Given the description of an element on the screen output the (x, y) to click on. 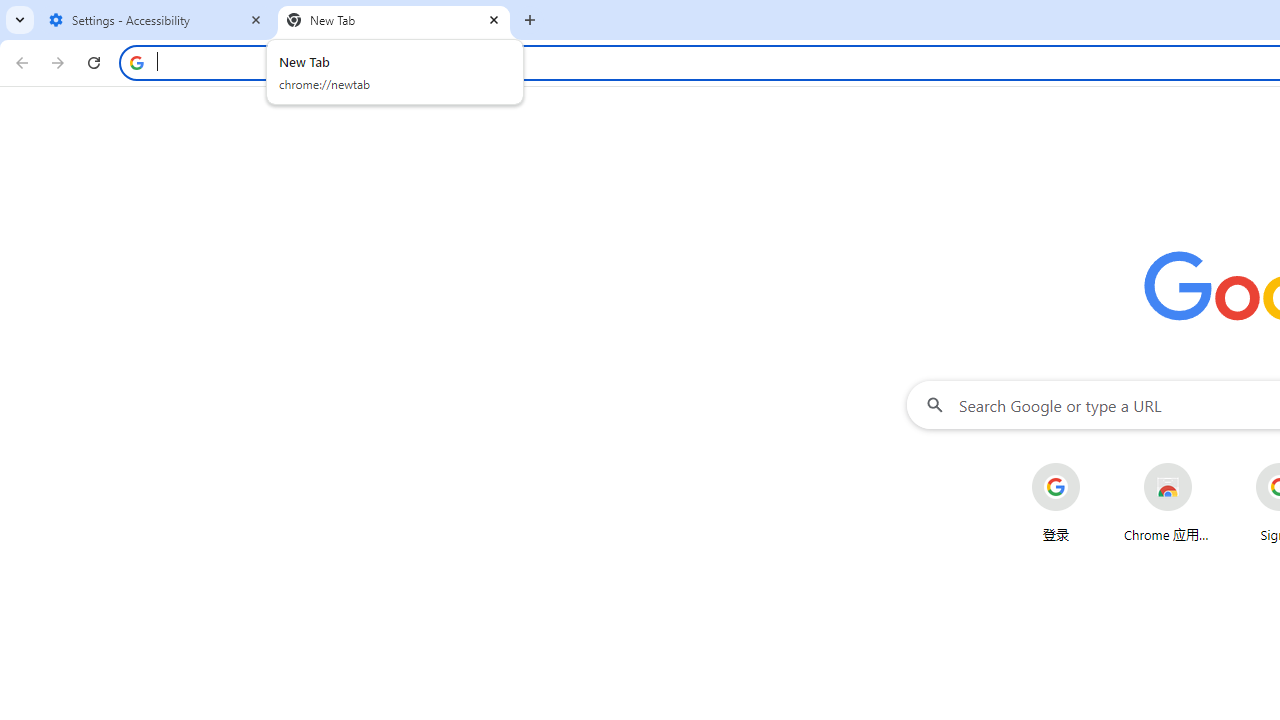
New Tab (394, 20)
Settings - Accessibility (156, 20)
